Given the description of an element on the screen output the (x, y) to click on. 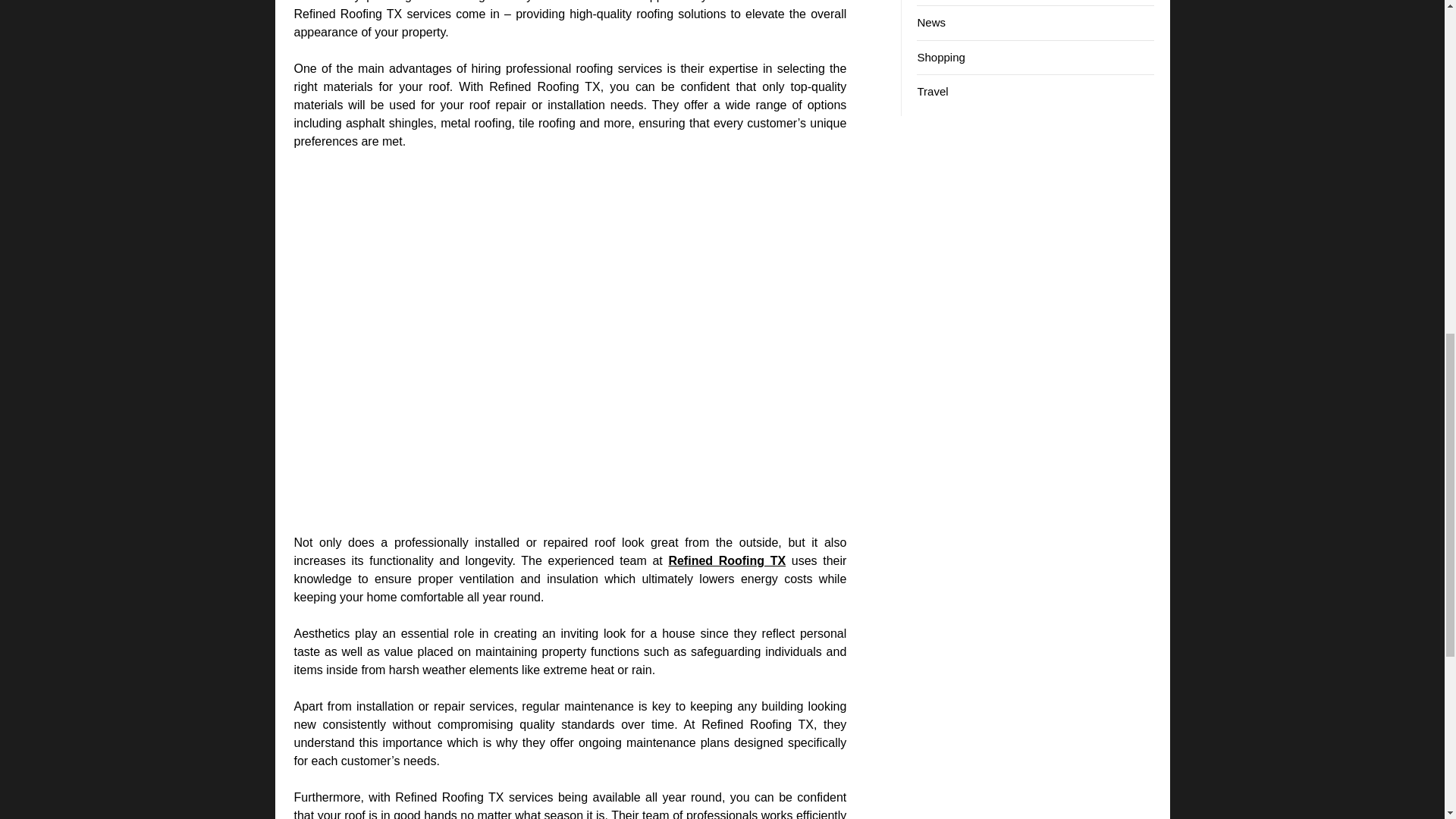
News (930, 21)
Refined Roofing TX (727, 560)
Shopping (940, 56)
Travel (932, 91)
